Given the description of an element on the screen output the (x, y) to click on. 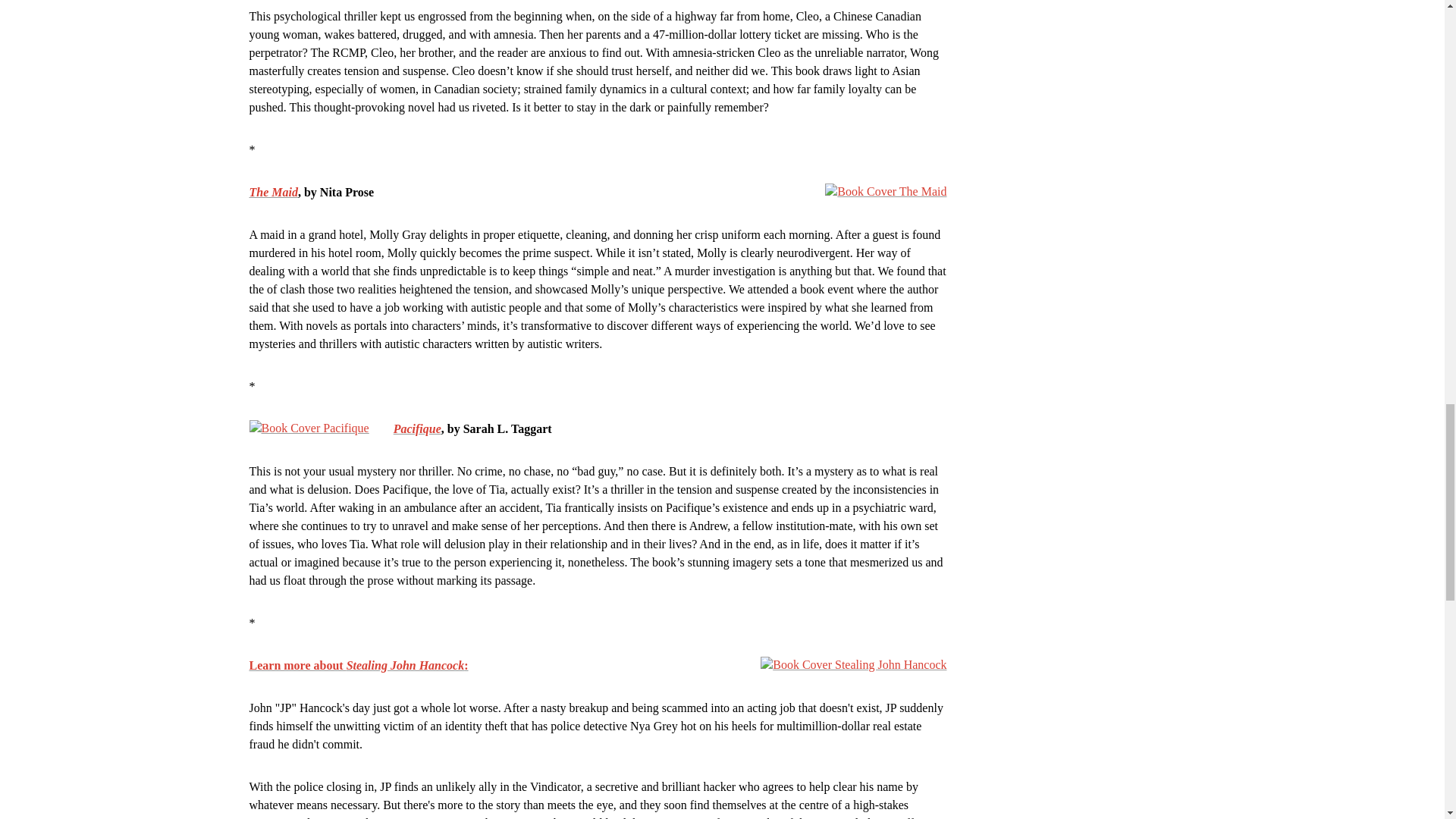
The Maid (272, 191)
Pacifique (417, 427)
Learn more about Stealing John Hancock: (357, 664)
